Given the description of an element on the screen output the (x, y) to click on. 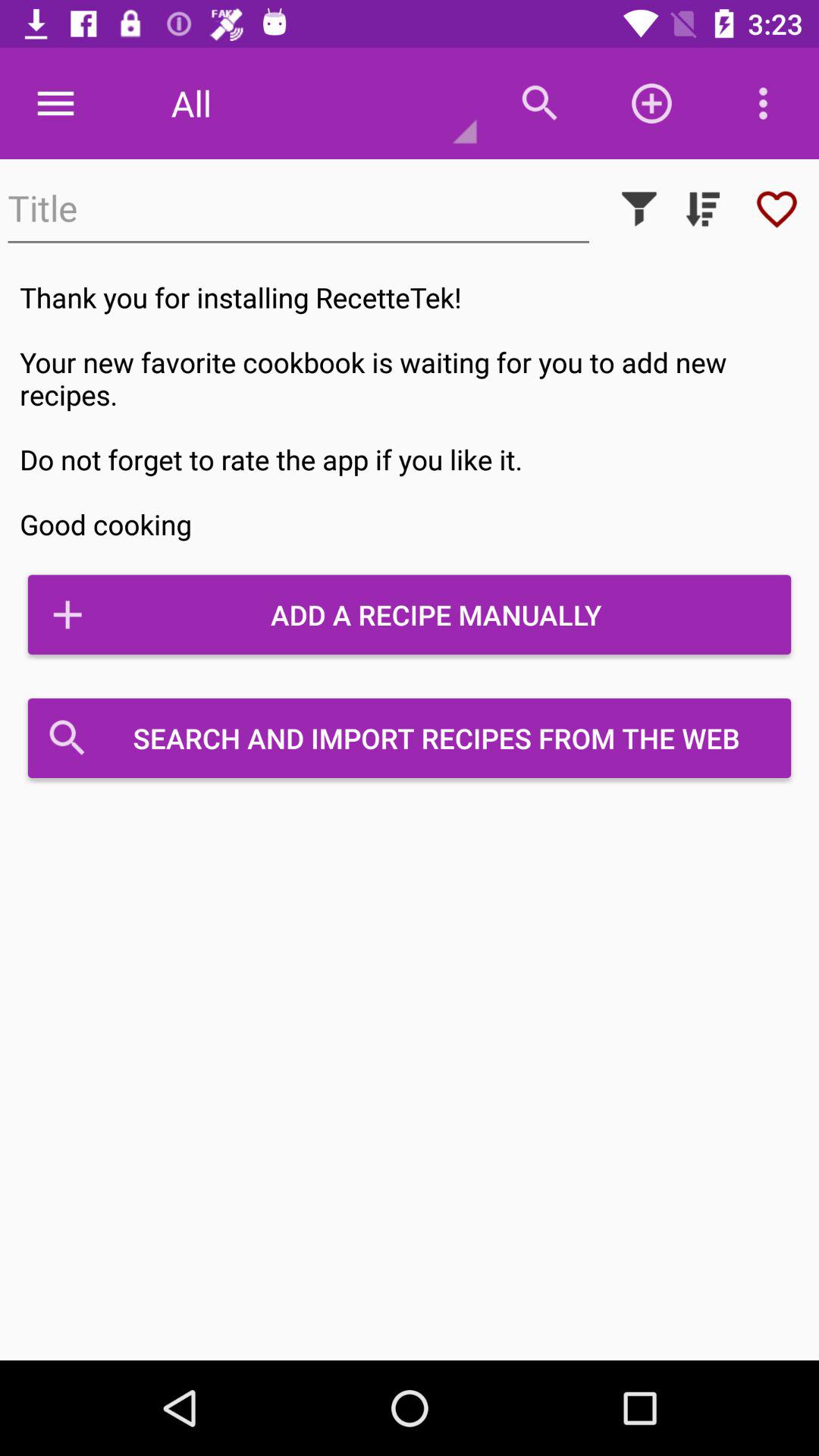
sort by ascending or descending (702, 208)
